Given the description of an element on the screen output the (x, y) to click on. 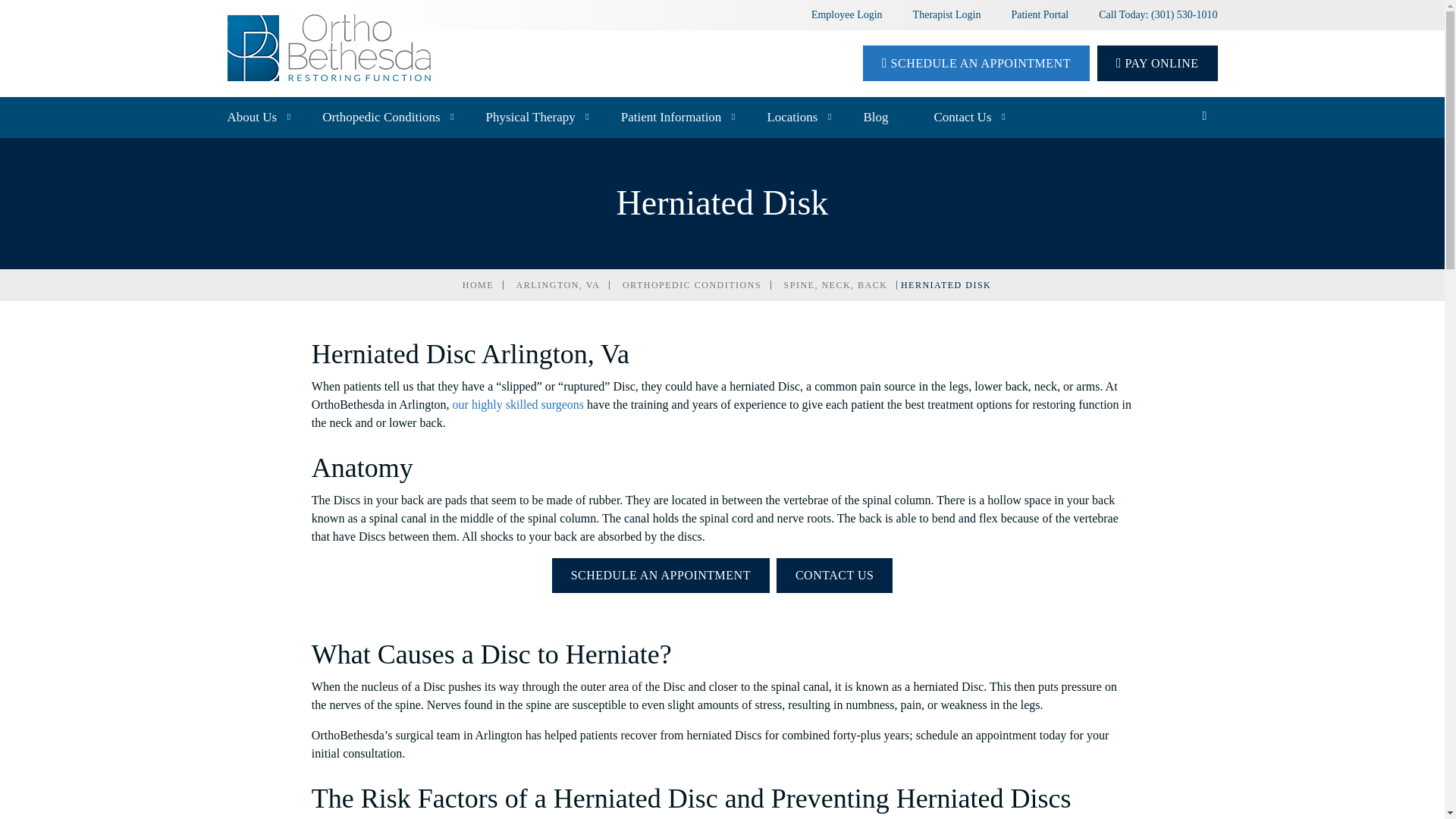
Employee Login (846, 14)
Therapist Login (946, 14)
Patient Portal (1039, 14)
